Given the description of an element on the screen output the (x, y) to click on. 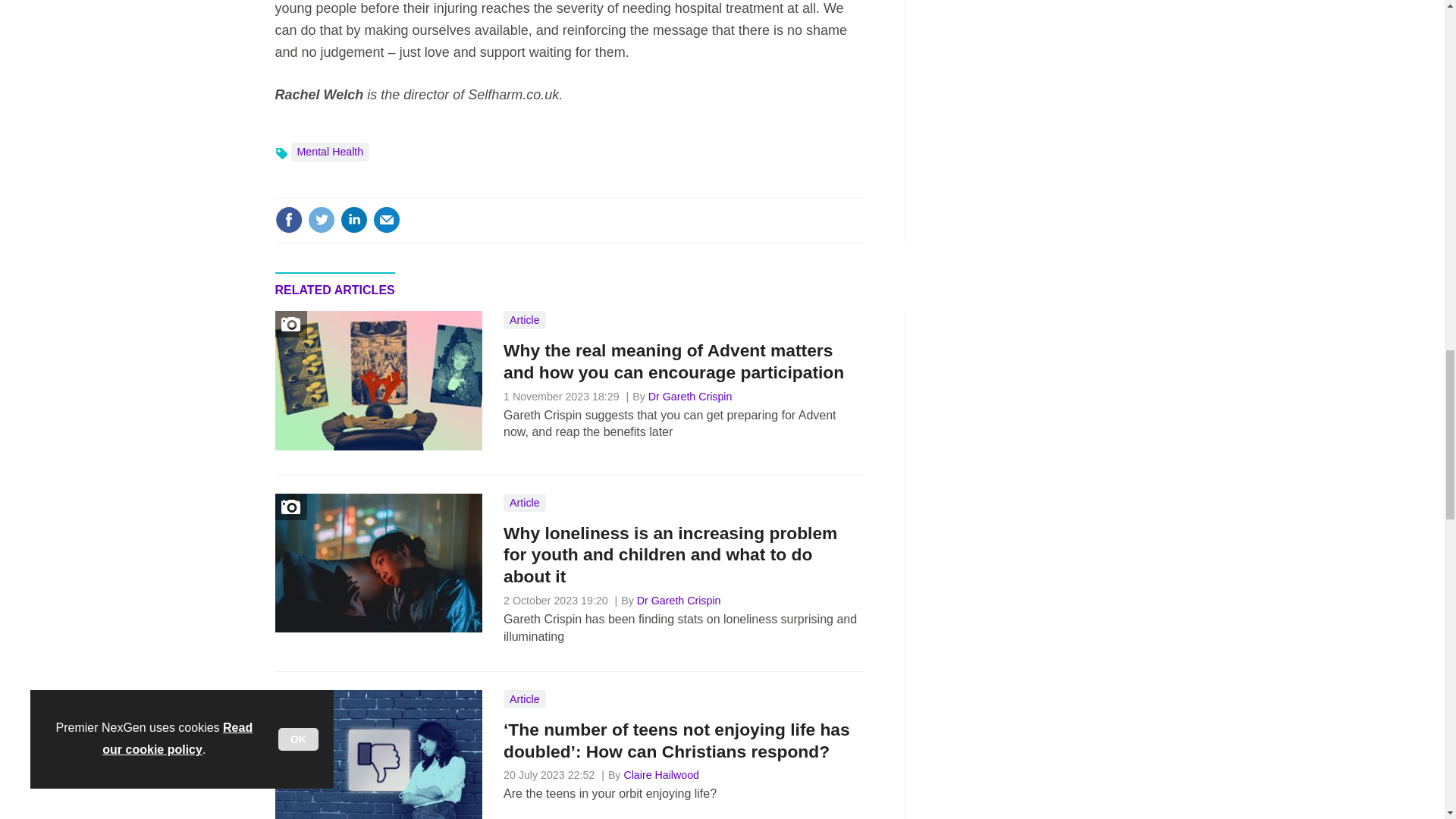
Share this on Facebook (288, 219)
Email this article (386, 219)
Share this on Twitter (320, 219)
Share this on Linked in (352, 219)
